Given the description of an element on the screen output the (x, y) to click on. 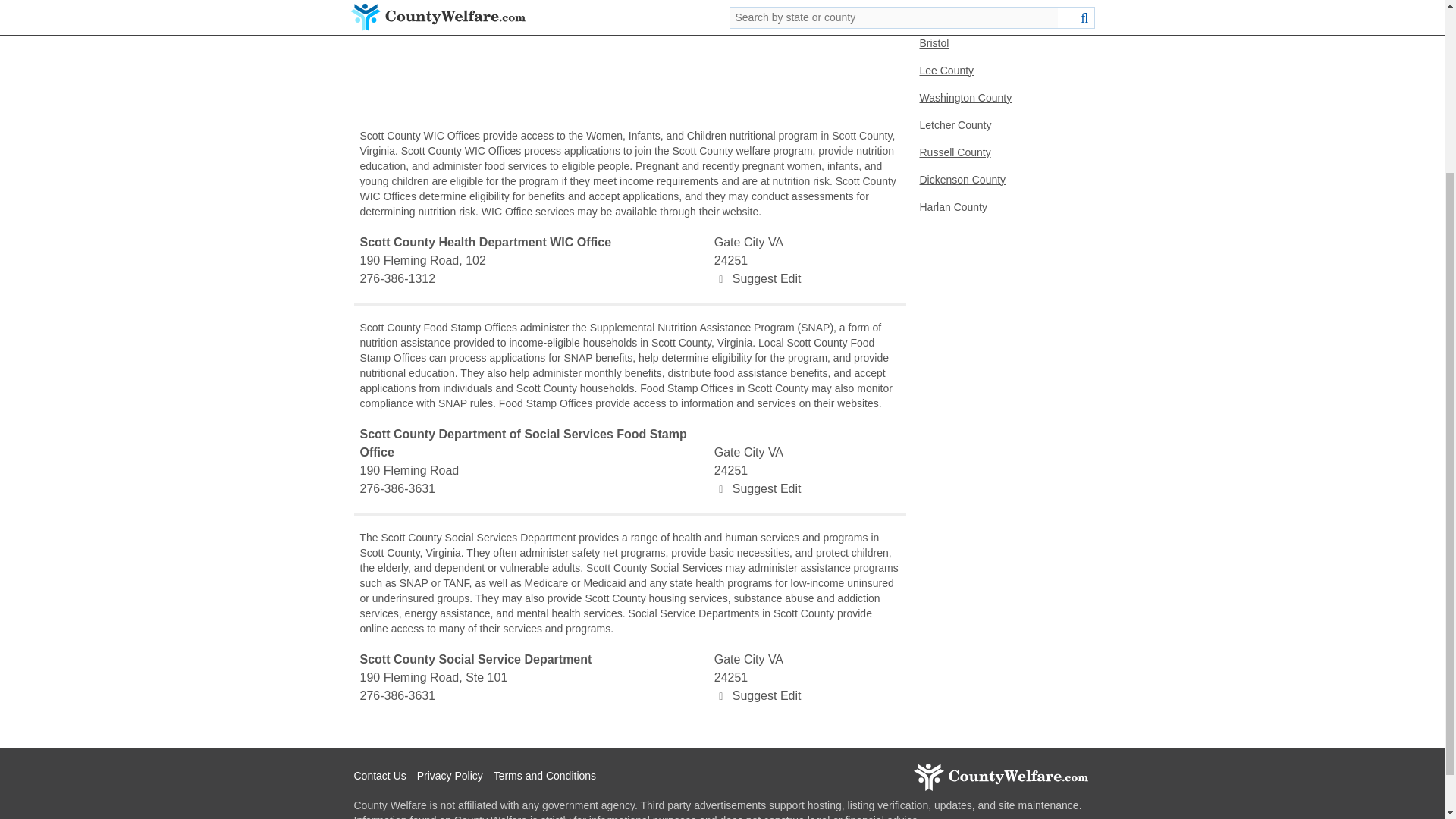
Harlan County (999, 207)
Bristol (999, 43)
Terms and Conditions (548, 776)
Privacy Policy (453, 776)
Suggest Edit (758, 278)
Contact Us (383, 776)
Lee County (999, 71)
Washington County (999, 98)
Russell County (999, 153)
276-386-3631 (534, 696)
Dickenson County (999, 180)
County Welfare (999, 776)
Suggest Edit (758, 695)
Letcher County (999, 125)
Hawkins County (999, 16)
